Given the description of an element on the screen output the (x, y) to click on. 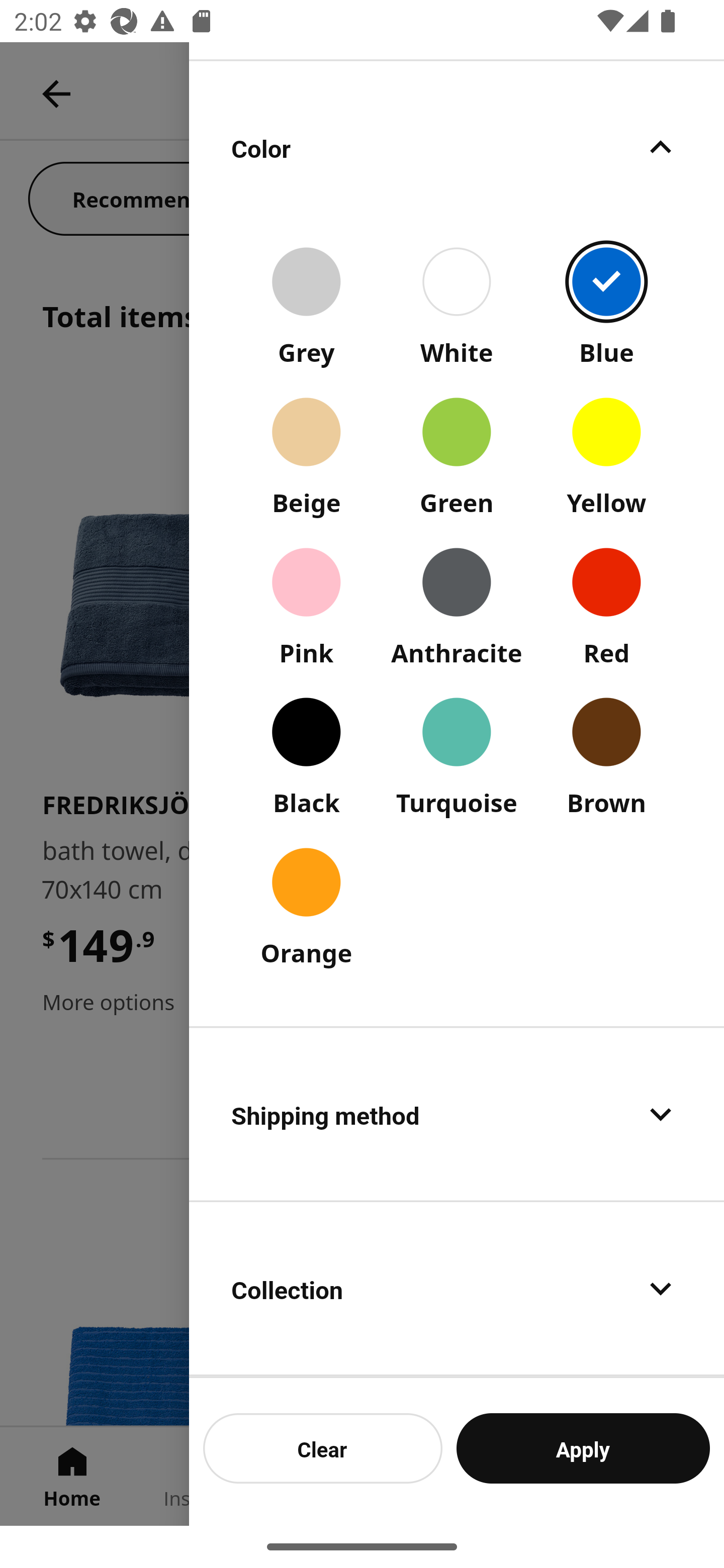
Color (456, 147)
Shipping method (456, 1113)
Collection (456, 1288)
Clear (322, 1447)
Apply (583, 1447)
